Given the description of an element on the screen output the (x, y) to click on. 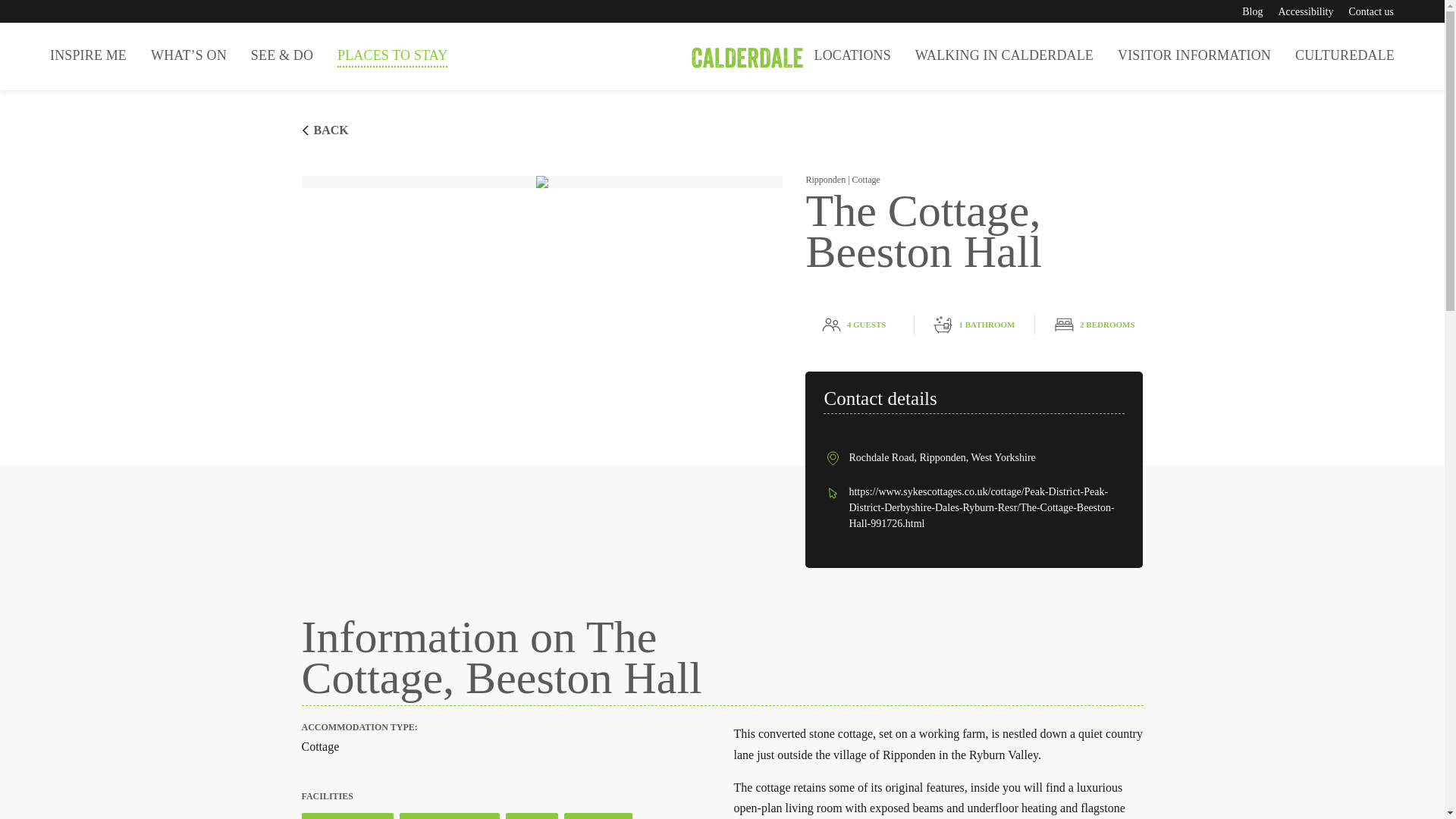
Blog (1251, 11)
Visit Calderdale (722, 56)
Contact us (1370, 11)
PLACES TO STAY (392, 56)
INSPIRE ME (87, 55)
Inspire me (87, 55)
Accessibility (1305, 11)
What's on (188, 55)
